Given the description of an element on the screen output the (x, y) to click on. 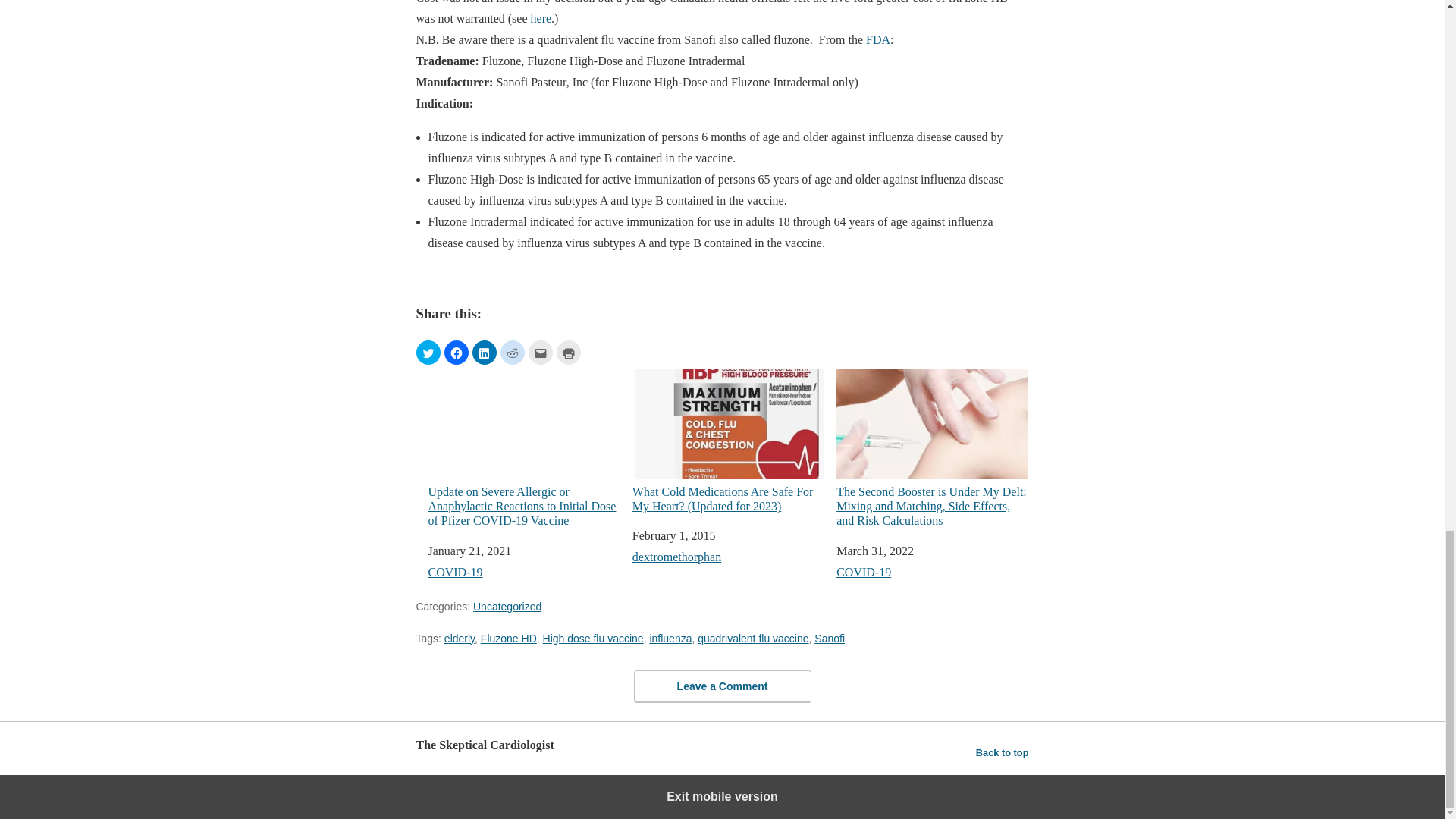
FDA (877, 39)
Back to top (1002, 752)
Uncategorized (507, 605)
dextromethorphan (675, 556)
Print (568, 352)
Click to share on LinkedIn (483, 352)
High dose flu vaccine (593, 637)
quadrivalent flu vaccine (752, 637)
Leave a Comment (721, 686)
